Given the description of an element on the screen output the (x, y) to click on. 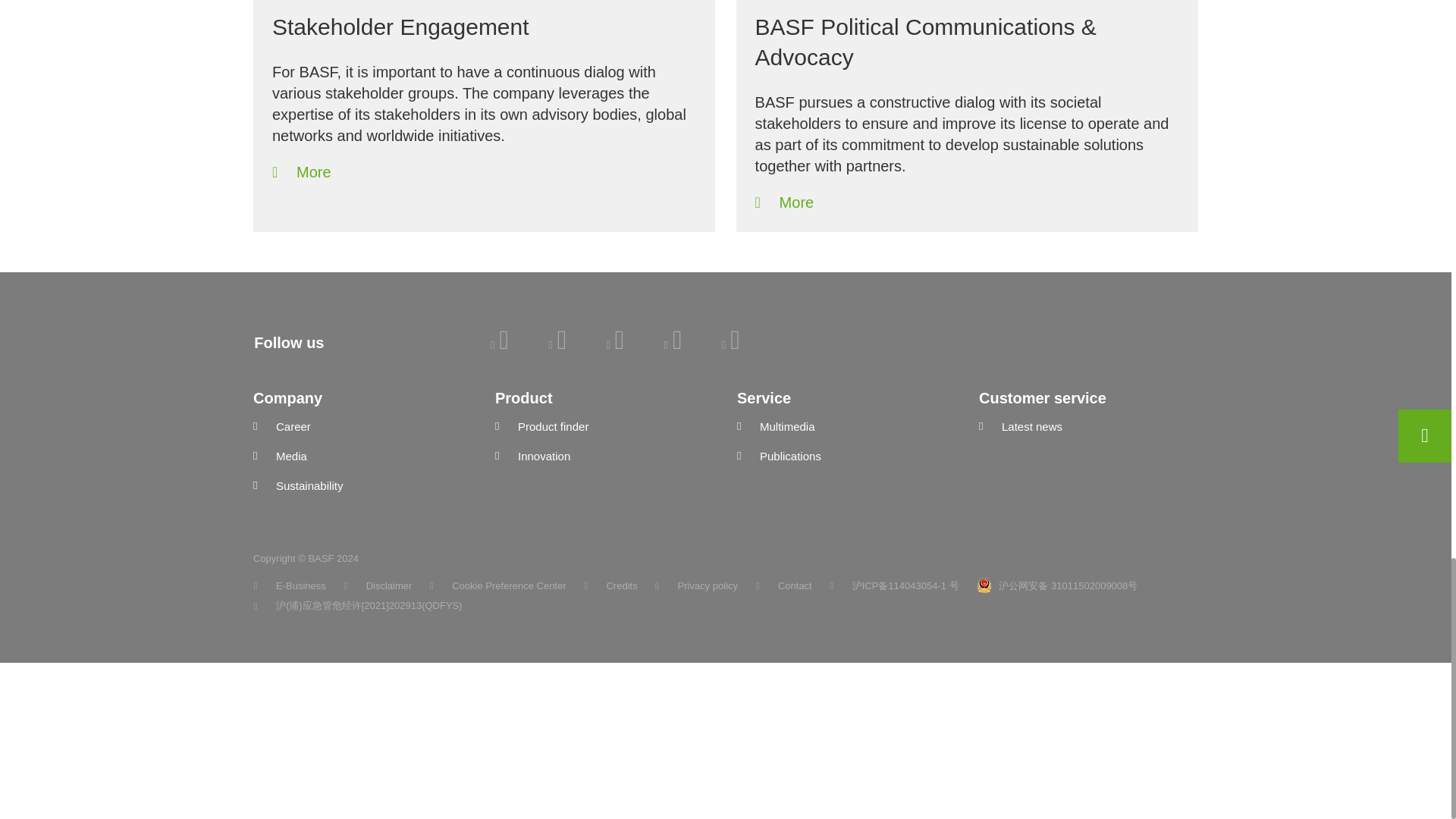
Media (362, 456)
Privacy policy (696, 585)
More (301, 171)
Publications (846, 456)
E-Business (289, 585)
Disclaimer (377, 585)
Join us on Twitter (614, 344)
Join us on Instagram (730, 344)
Career (362, 426)
More (784, 201)
